Given the description of an element on the screen output the (x, y) to click on. 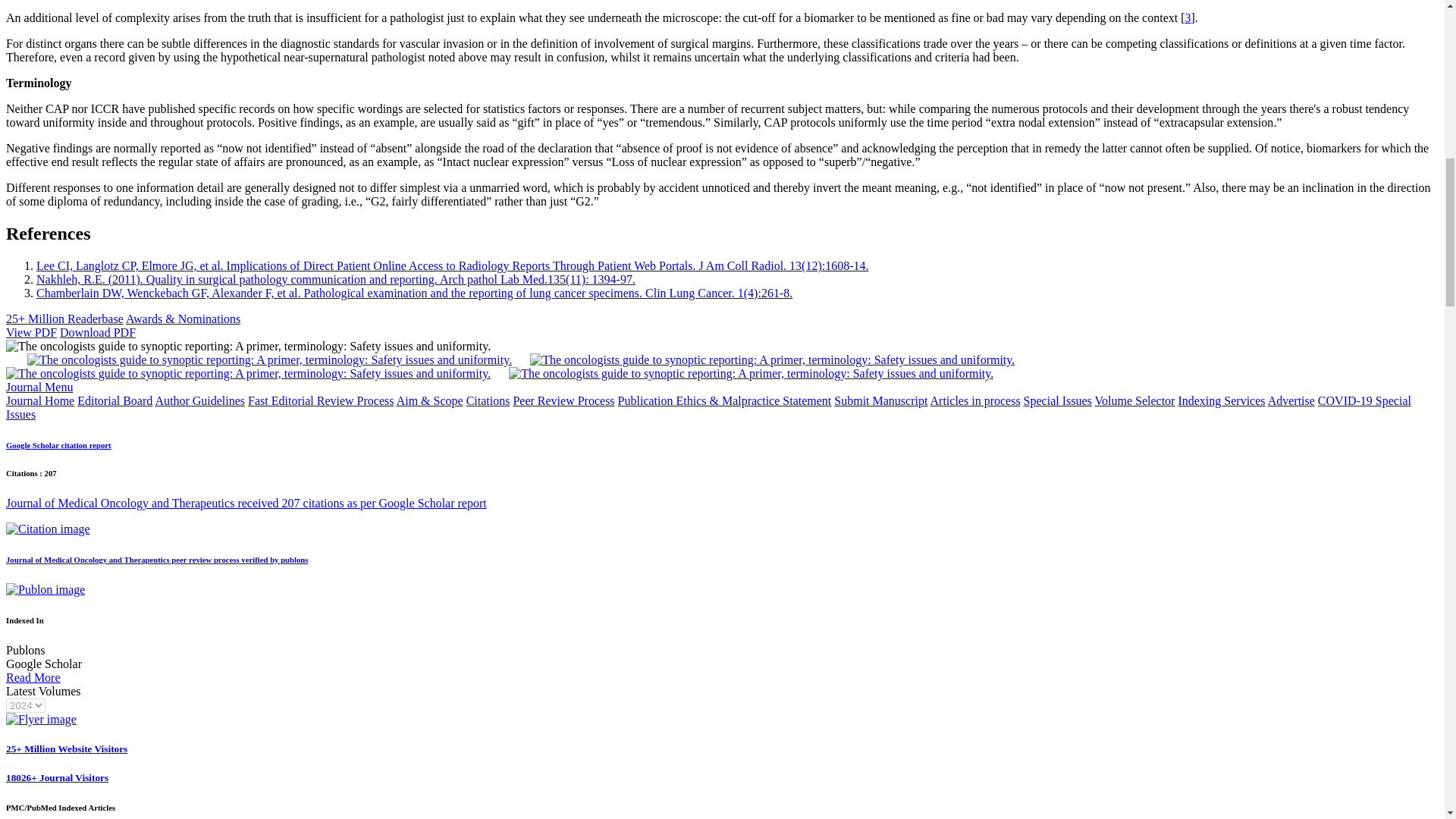
View PDF (30, 332)
Editorial Board (114, 400)
Download PDF (97, 332)
View PDF (30, 332)
Journal Home (39, 400)
Author Guidelines (199, 400)
Journal Menu (38, 386)
Fast Editorial Review Process (320, 400)
